Given the description of an element on the screen output the (x, y) to click on. 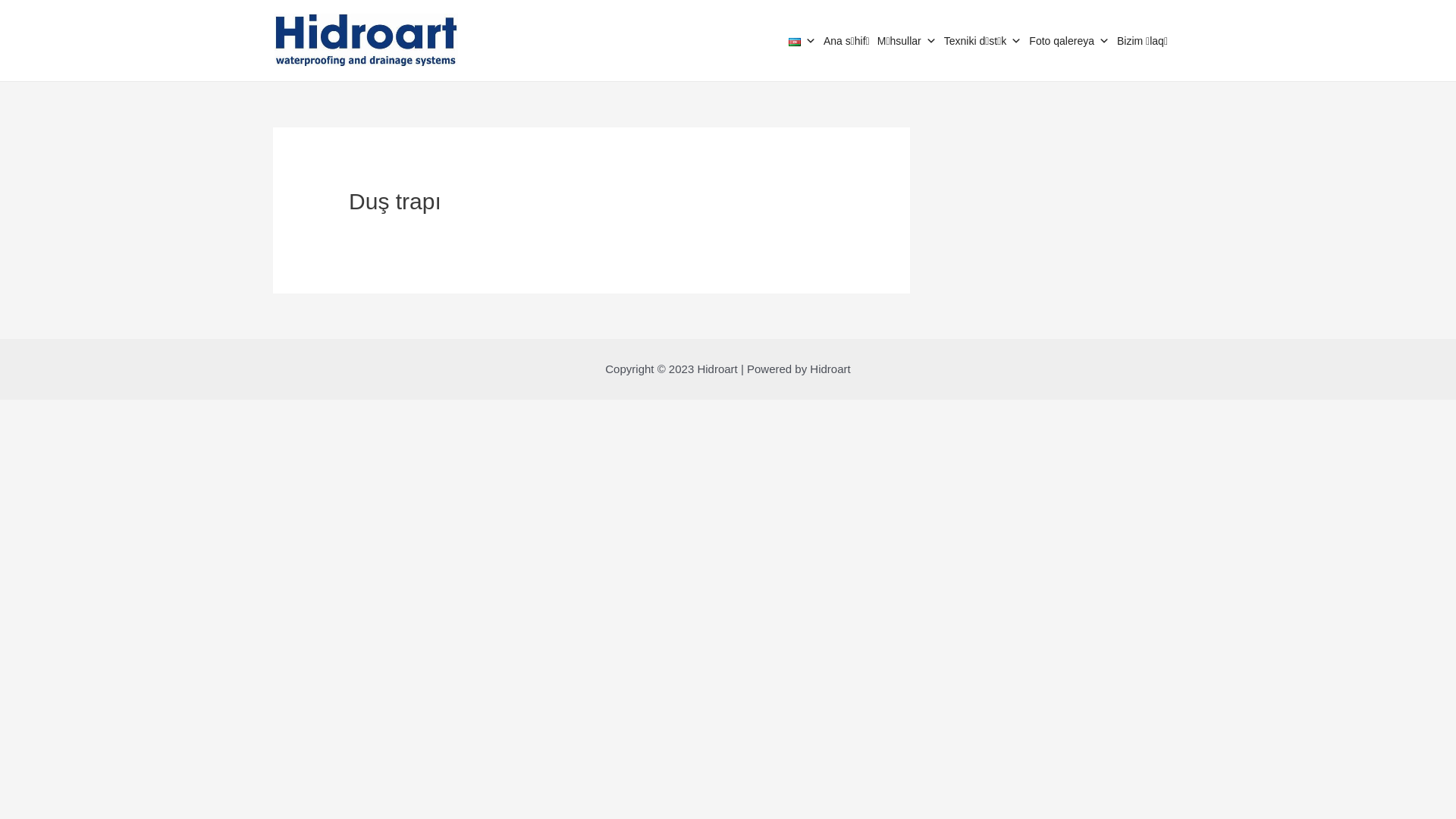
Foto qalereya Element type: text (1073, 40)
